Given the description of an element on the screen output the (x, y) to click on. 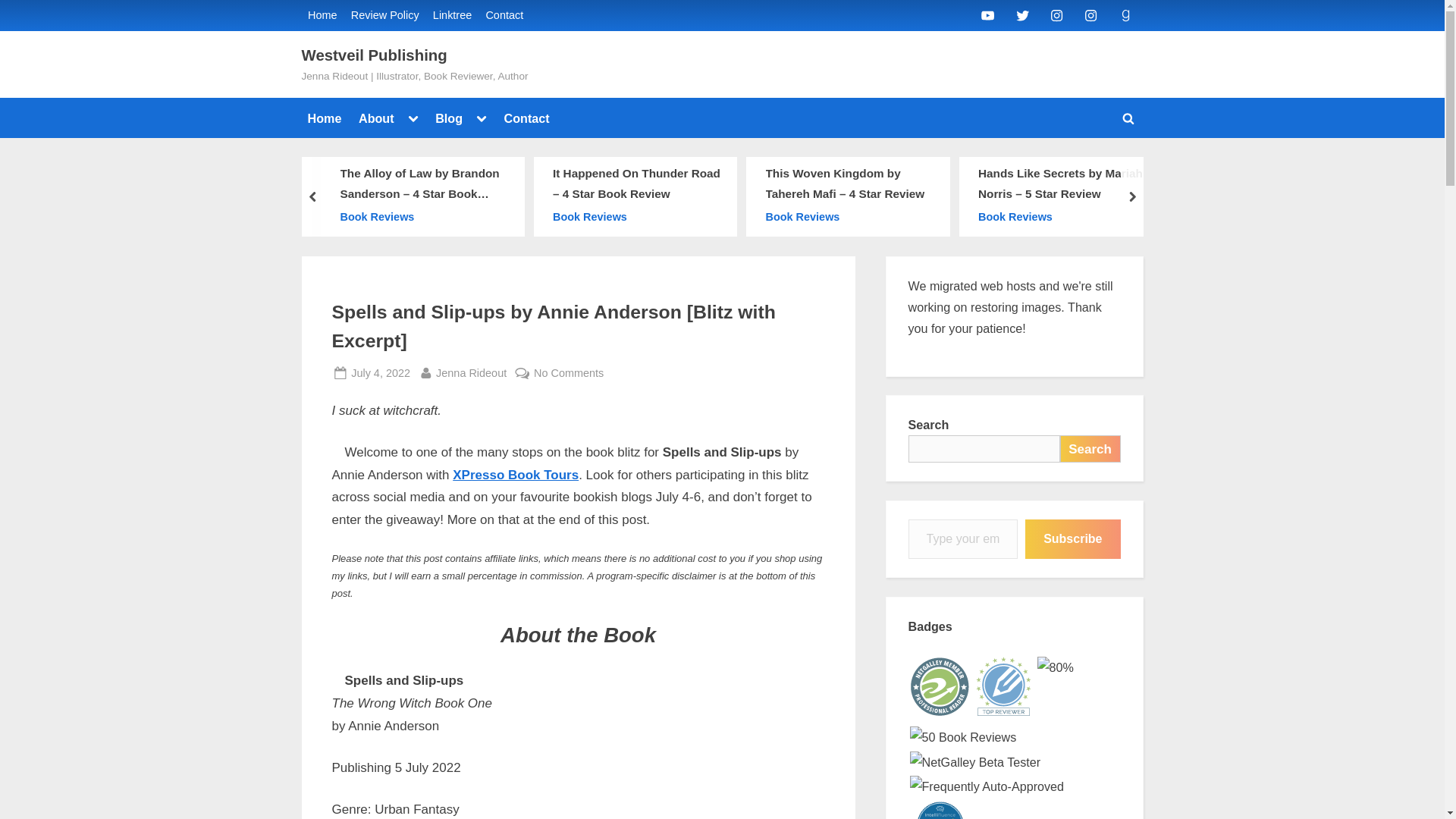
Contact (526, 118)
Menu Item (1056, 14)
Westveil Publishing (373, 54)
Menu Item (986, 14)
Home (324, 118)
Contact (503, 15)
Menu Item (1090, 14)
Menu Item (1021, 14)
Please fill in this field. (962, 539)
Menu Item (1125, 14)
Linktree (451, 15)
NetGalley Beta Tester (975, 762)
About (376, 118)
Professional Reader (940, 686)
Home (322, 15)
